Given the description of an element on the screen output the (x, y) to click on. 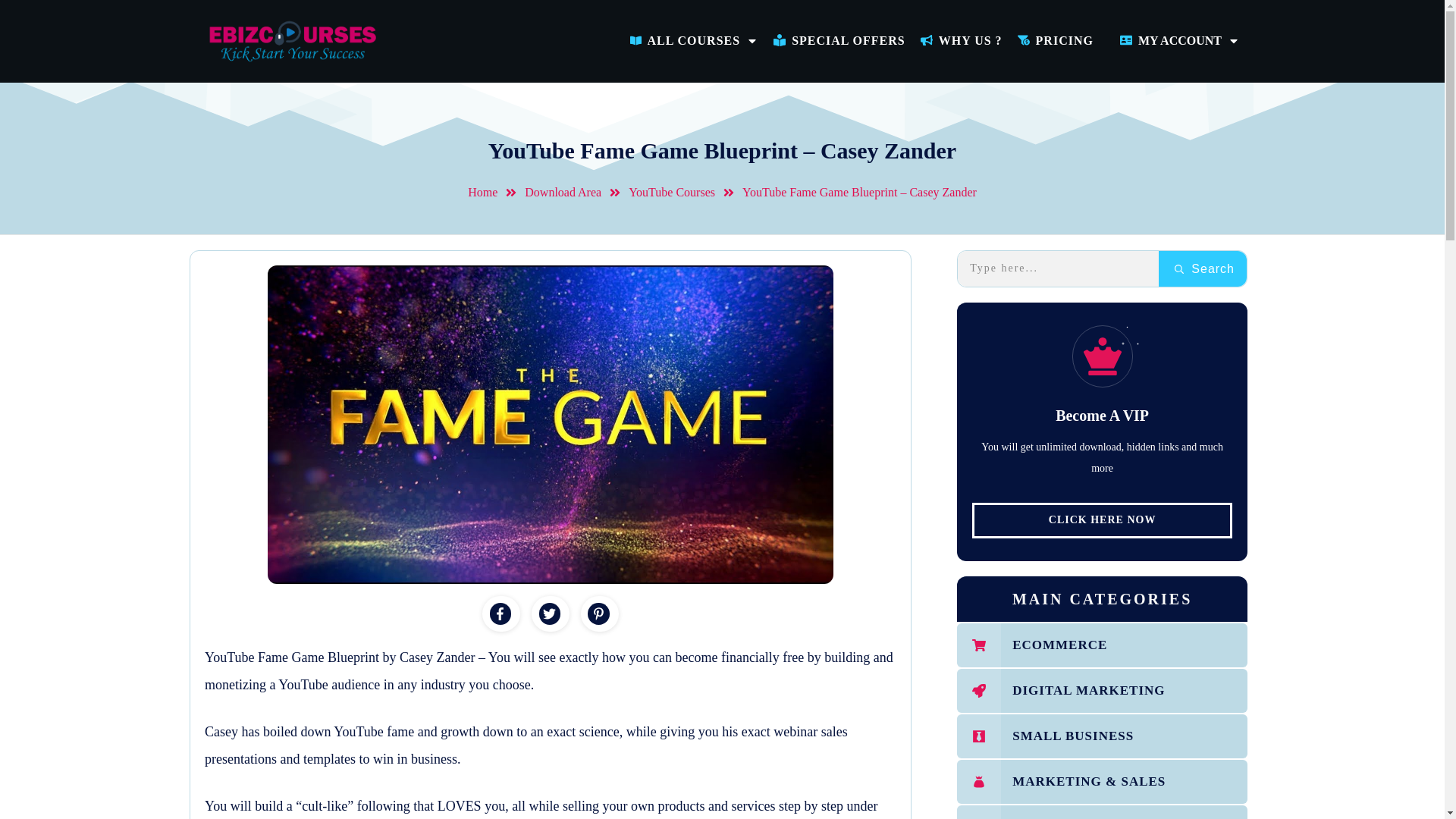
ALL COURSES (694, 40)
YouTube Courses (671, 192)
Home (482, 192)
Download Area (562, 192)
SPECIAL OFFERS (839, 40)
WHY US ? (961, 40)
MY ACCOUNT (1179, 40)
PRICING (1055, 40)
